Given the description of an element on the screen output the (x, y) to click on. 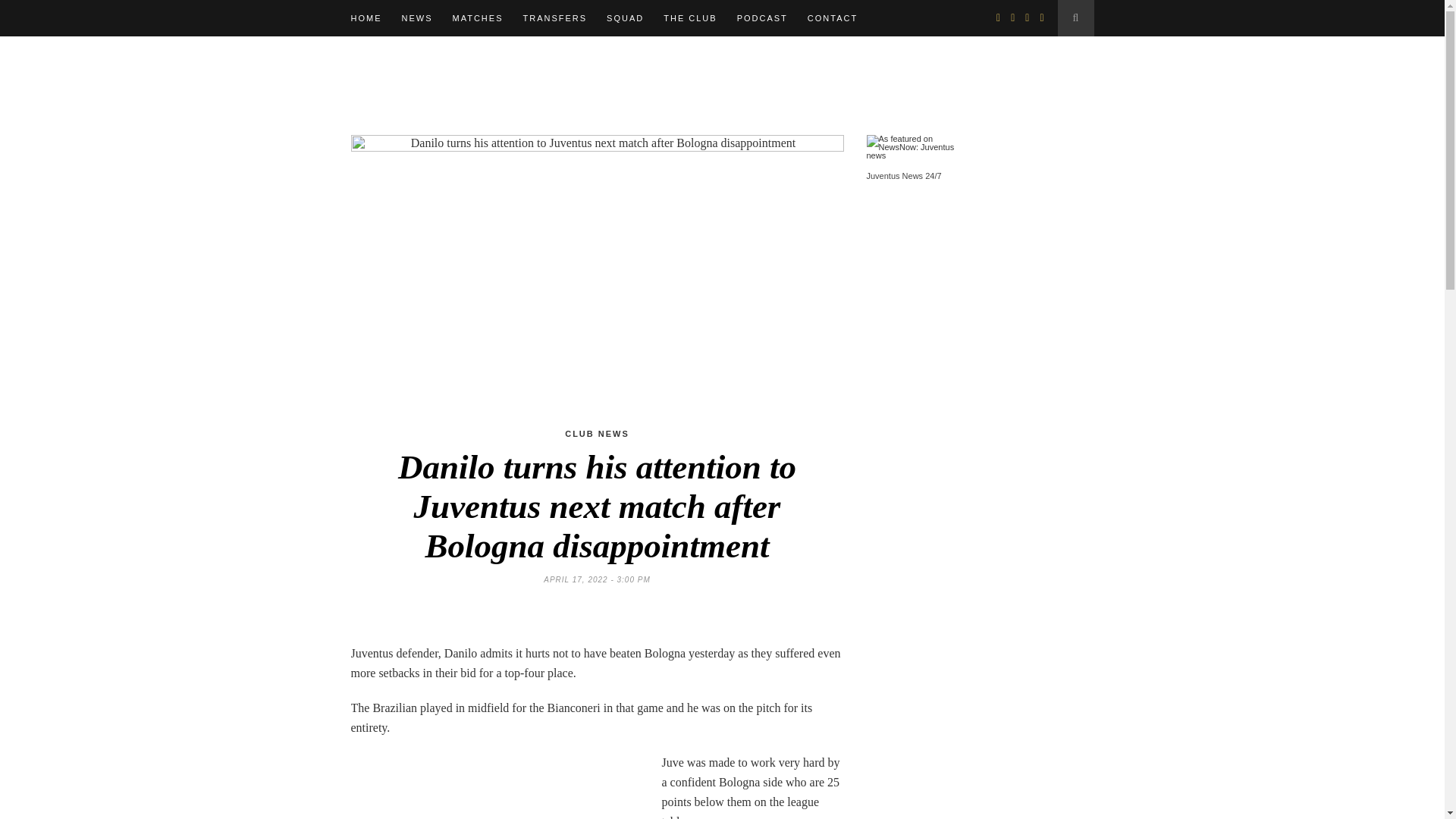
THE CLUB (689, 18)
MATCHES (476, 18)
The Club (689, 18)
TRANSFERS (554, 18)
Contact (832, 18)
Squad (625, 18)
SQUAD (625, 18)
View all posts in Club News (596, 433)
Matches (476, 18)
